Given the description of an element on the screen output the (x, y) to click on. 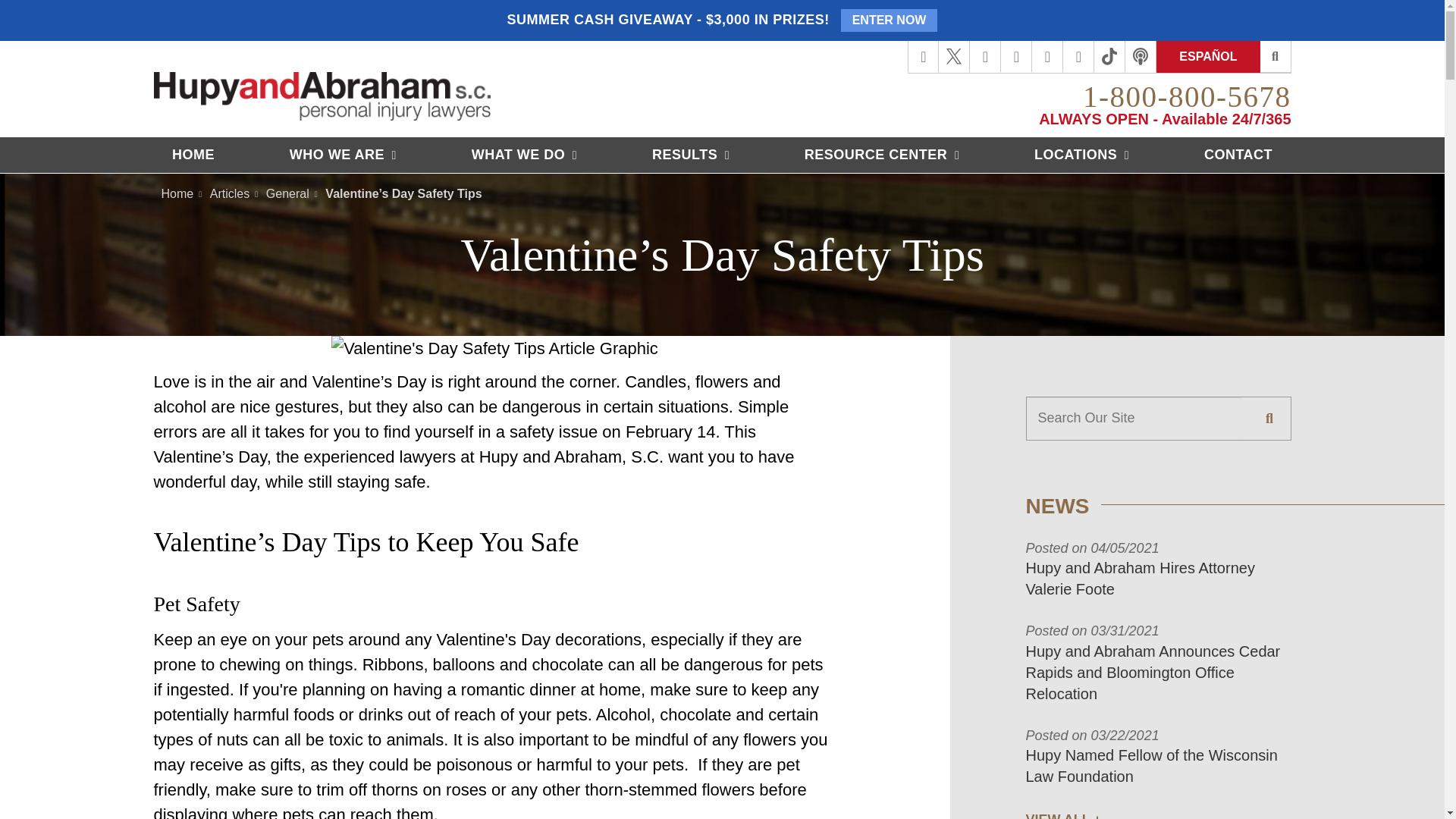
WHO WE ARE (342, 154)
1-800-800-5678 (1186, 96)
Search (1275, 56)
Search (1269, 418)
HOME (193, 154)
ENTER NOW (889, 20)
WHAT WE DO (523, 154)
